Given the description of an element on the screen output the (x, y) to click on. 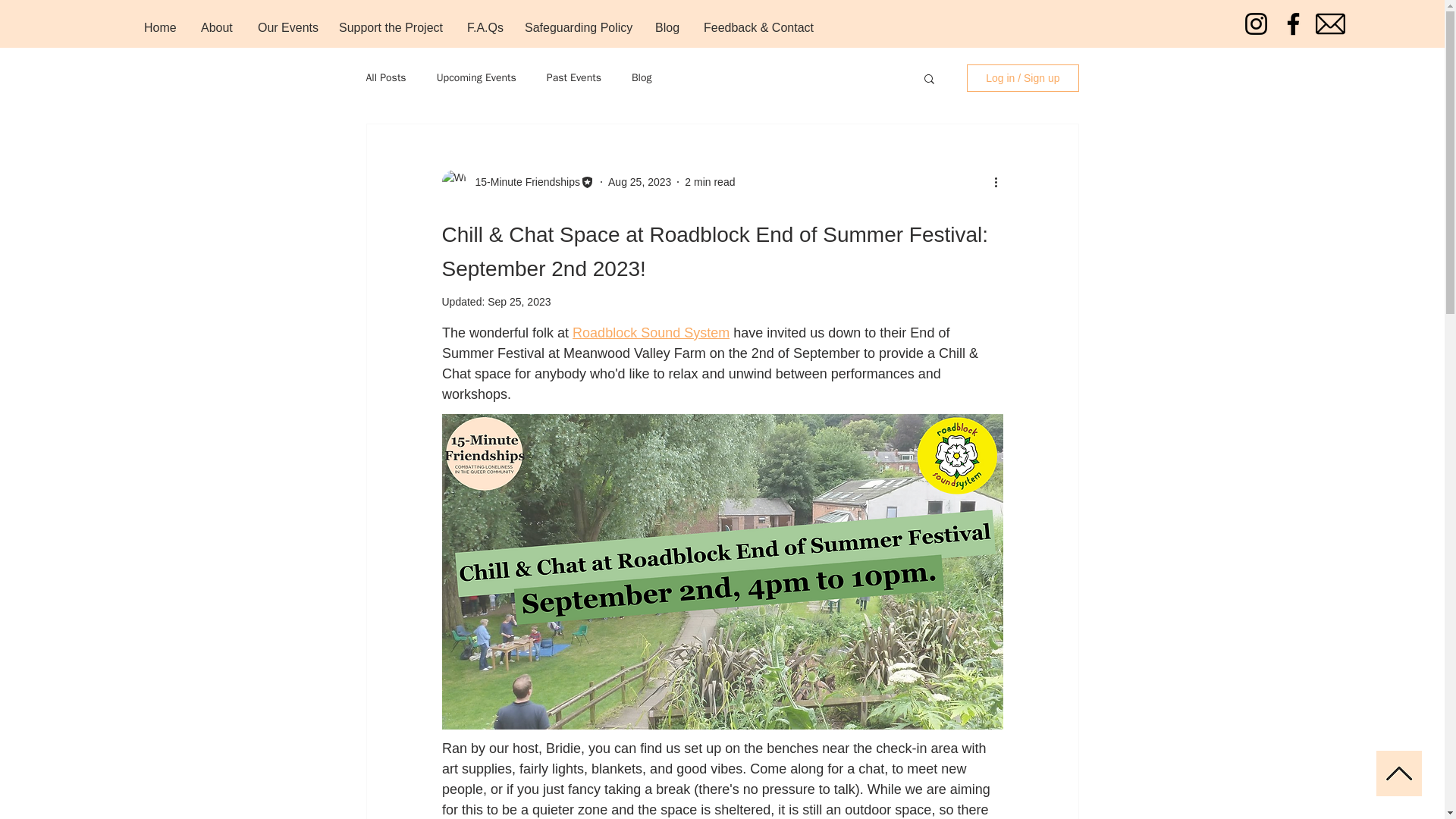
Roadblock Sound System (650, 332)
About (217, 27)
2 min read (709, 182)
Blog (668, 27)
Sep 25, 2023 (518, 301)
All Posts (385, 78)
Blog (641, 78)
Past Events (574, 78)
15-Minute Friendships (522, 182)
Our Events (286, 27)
F.A.Qs (484, 27)
Home (160, 27)
Safeguarding Policy (578, 27)
Upcoming Events (476, 78)
Aug 25, 2023 (639, 182)
